Given the description of an element on the screen output the (x, y) to click on. 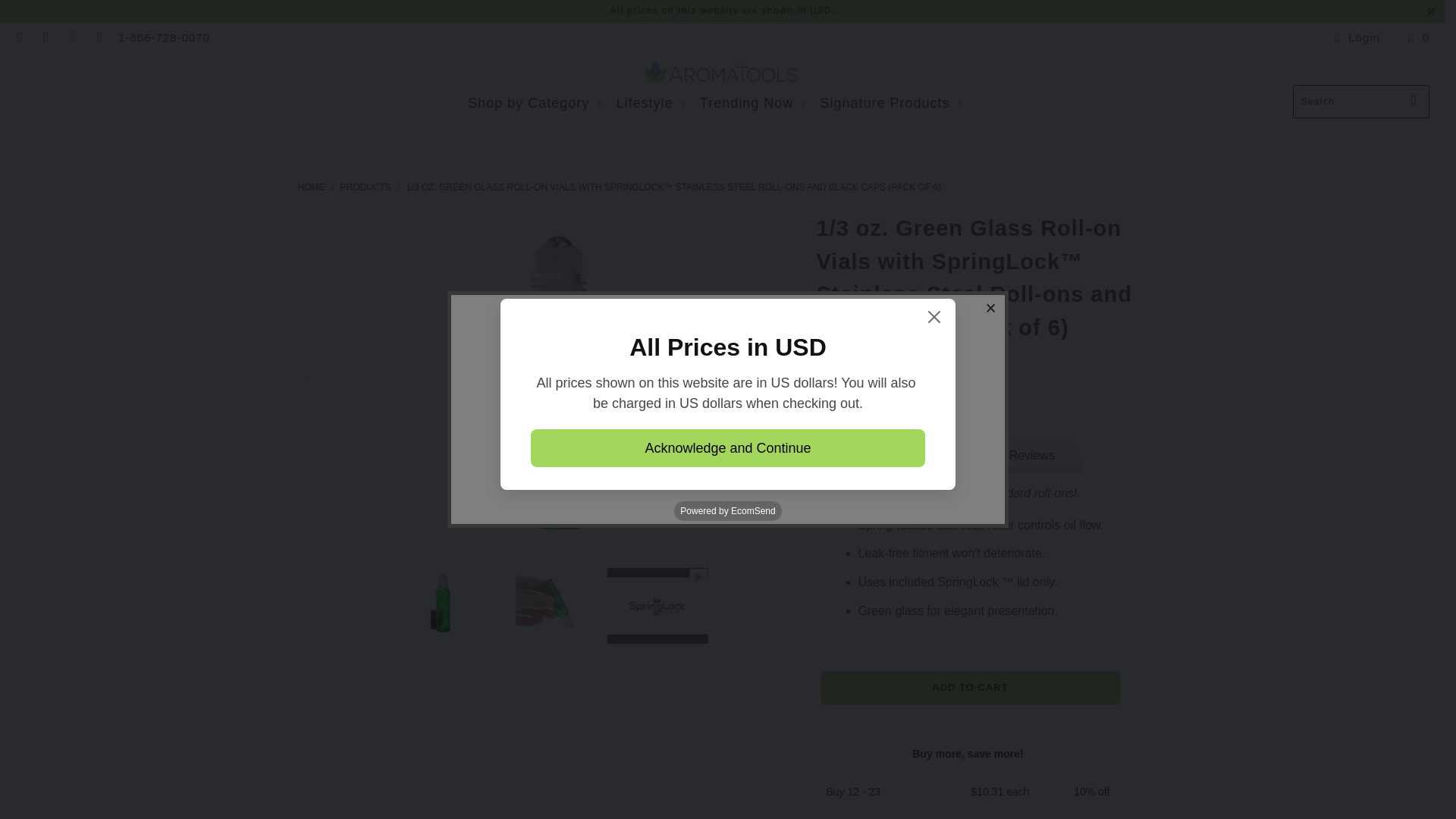
My Account  (1354, 37)
Sign Up (874, 465)
